Given the description of an element on the screen output the (x, y) to click on. 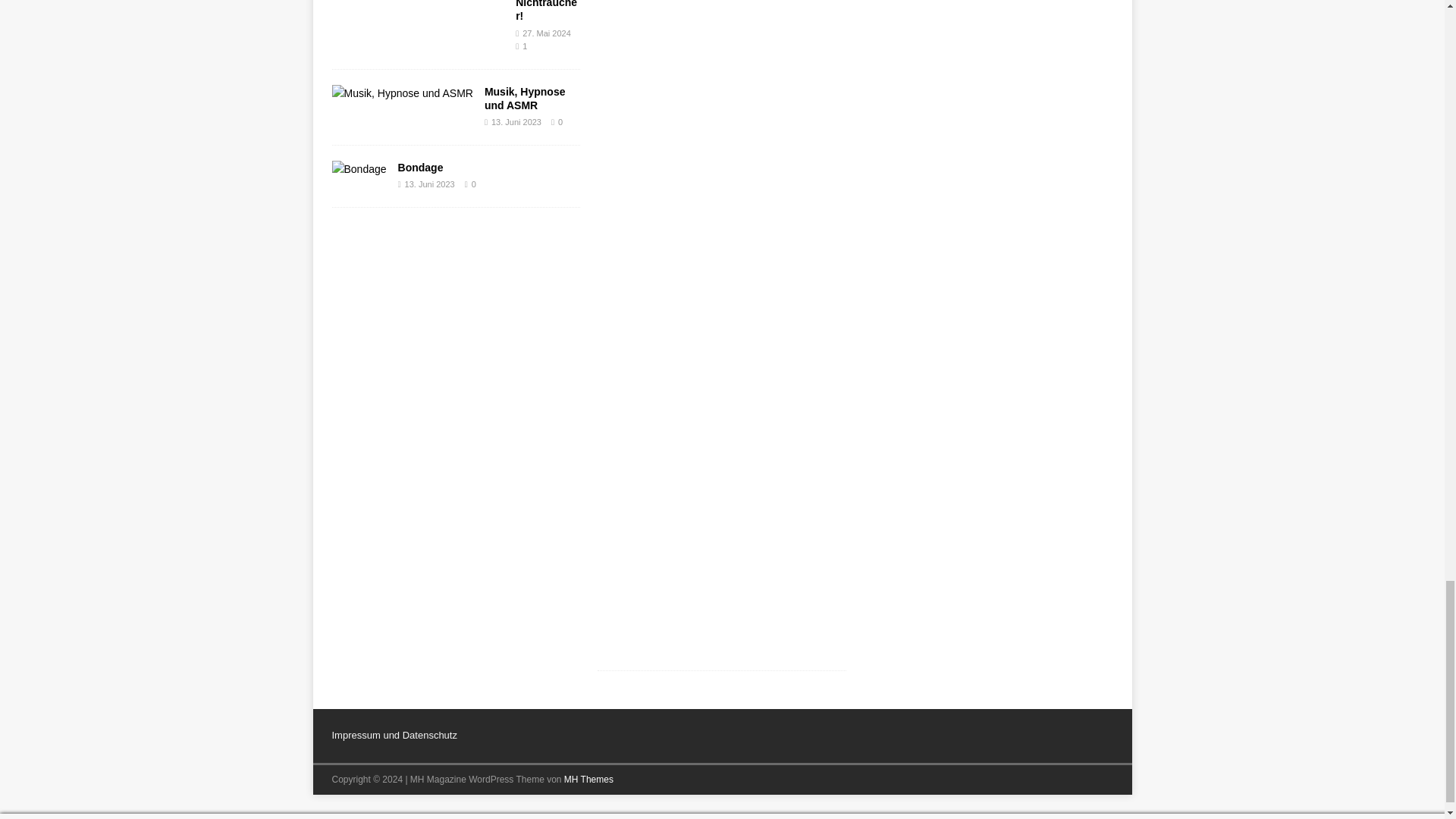
0 (473, 184)
0 (559, 121)
Musik, Hypnose und ASMR (525, 98)
Premium WordPress Themes (588, 778)
13. Juni 2023 (429, 184)
Bondage (420, 167)
Bondage (420, 167)
27. Mai 2024 (546, 32)
1 (524, 45)
Musik, Hypnose und ASMR (525, 98)
13. Juni 2023 (516, 121)
Bondage (359, 168)
Musik, Hypnose und ASMR (402, 93)
